Given the description of an element on the screen output the (x, y) to click on. 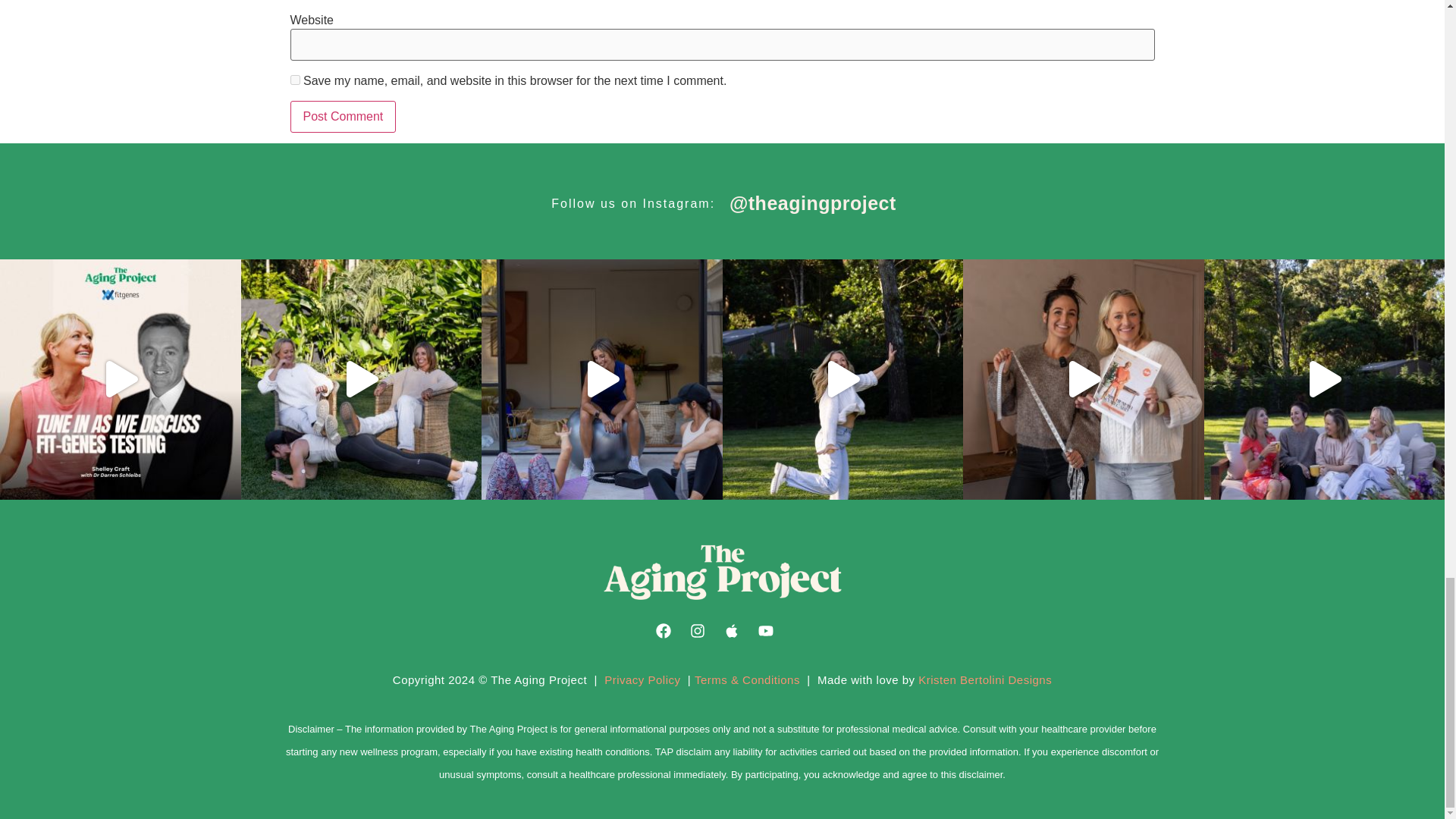
yes (294, 79)
Post Comment (342, 116)
